Given the description of an element on the screen output the (x, y) to click on. 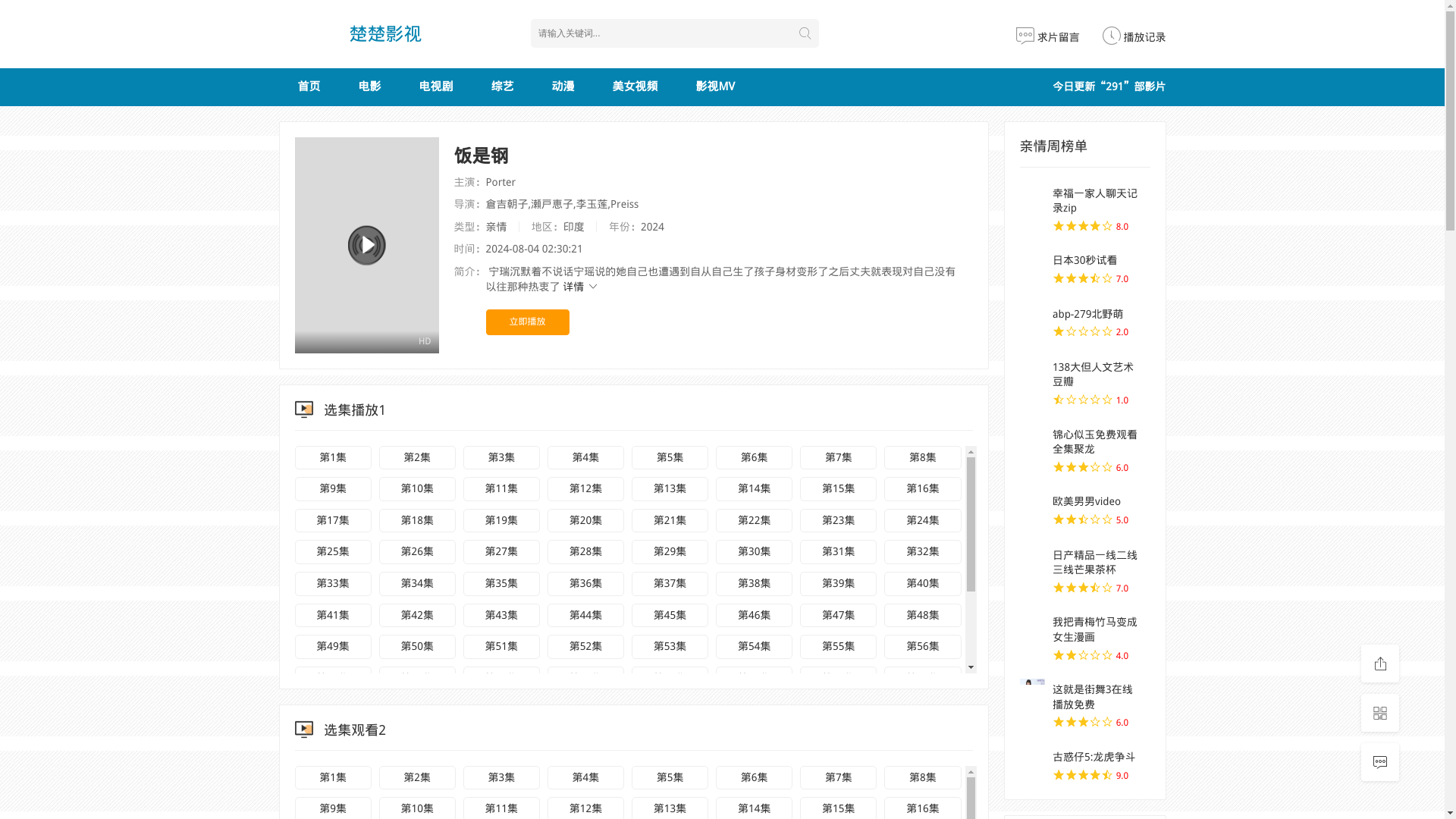
HD (366, 244)
